Given the description of an element on the screen output the (x, y) to click on. 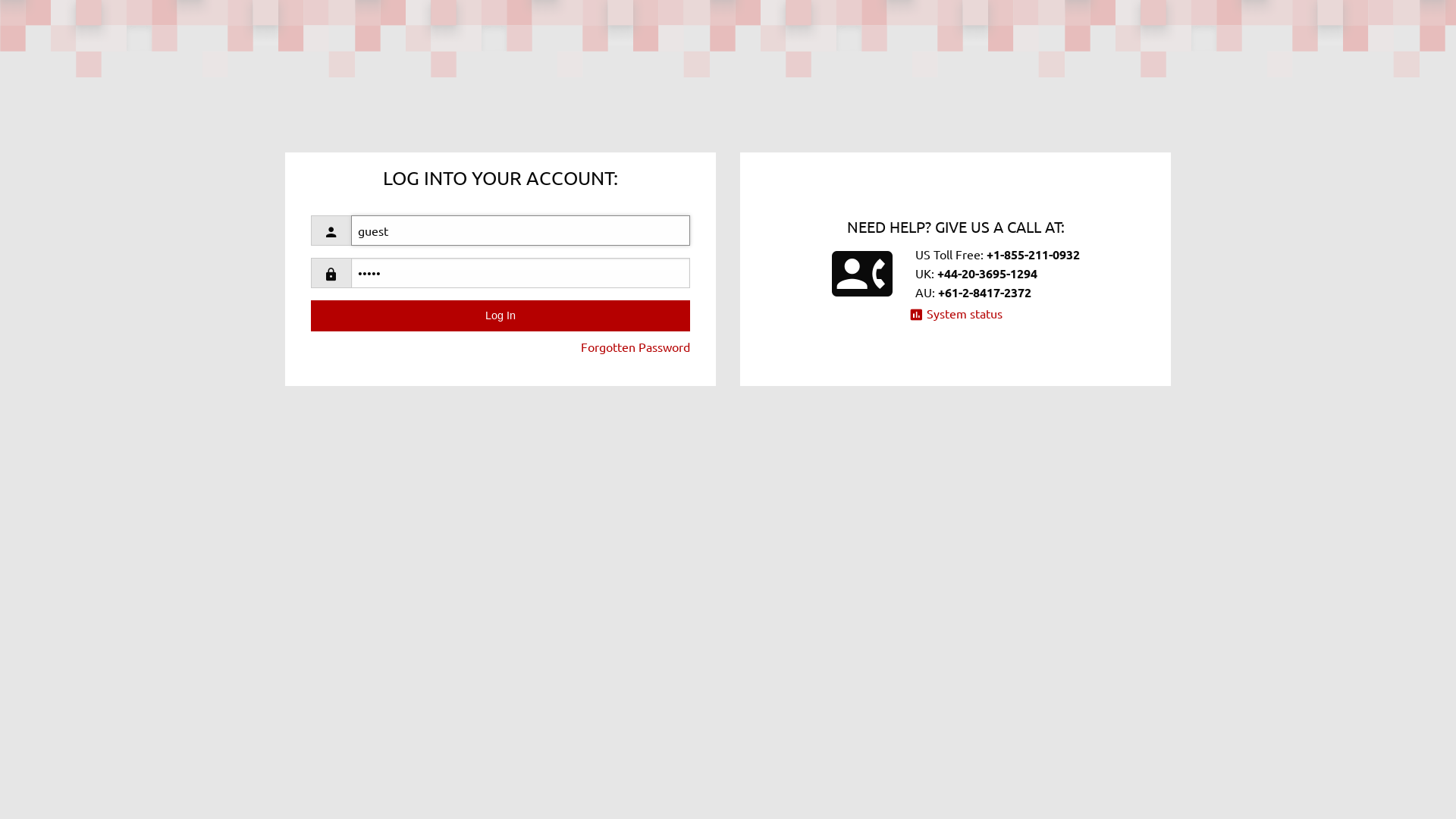
Forgotten Password Element type: text (635, 346)
Log In Element type: text (500, 315)
System status Element type: text (955, 312)
